Given the description of an element on the screen output the (x, y) to click on. 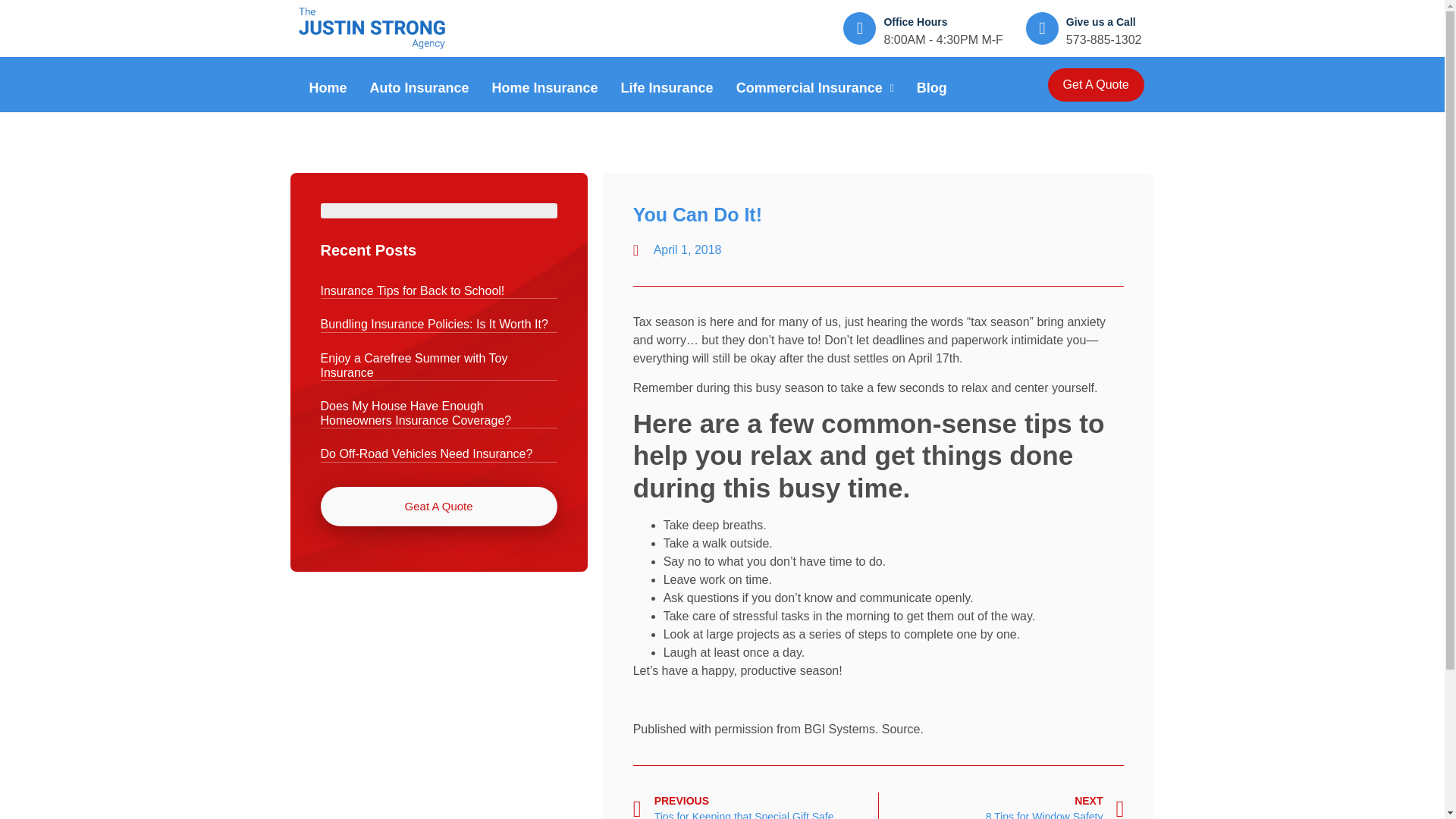
Get A Quote (1096, 84)
Give us a Call (1100, 21)
Life Insurance (667, 88)
Blog (931, 88)
573-885-1302 (1103, 39)
Auto Insurance (419, 88)
Commercial Insurance (815, 88)
Enjoy a Carefree Summer with Toy Insurance (413, 365)
Do Off-Road Vehicles Need Insurance? (426, 453)
Home (327, 88)
Home Insurance (545, 88)
Does My House Have Enough Homeowners Insurance Coverage? (415, 412)
Insurance Tips for Back to School! (411, 290)
Bundling Insurance Policies: Is It Worth It? (433, 323)
Office Hours (915, 21)
